Given the description of an element on the screen output the (x, y) to click on. 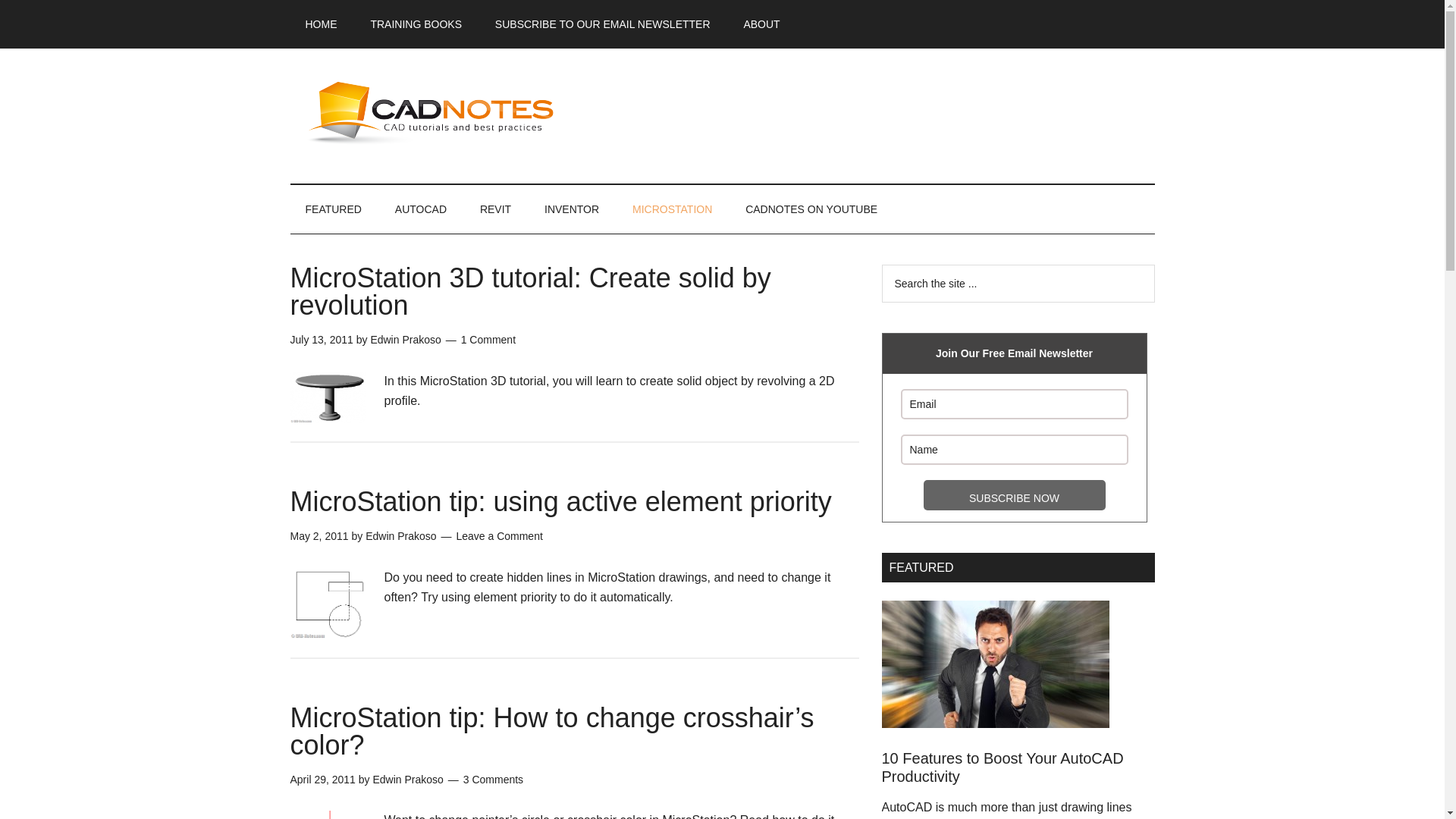
MICROSTATION (671, 209)
Edwin Prakoso (407, 779)
CADnotes (433, 112)
ABOUT (761, 24)
MicroStation tip: using active element priority (560, 501)
Edwin Prakoso (405, 339)
FEATURED (332, 209)
3 Comments (492, 779)
SUBSCRIBE TO OUR EMAIL NEWSLETTER (602, 24)
REVIT (494, 209)
TRAINING BOOKS (416, 24)
INVENTOR (571, 209)
Leave a Comment (498, 535)
